Given the description of an element on the screen output the (x, y) to click on. 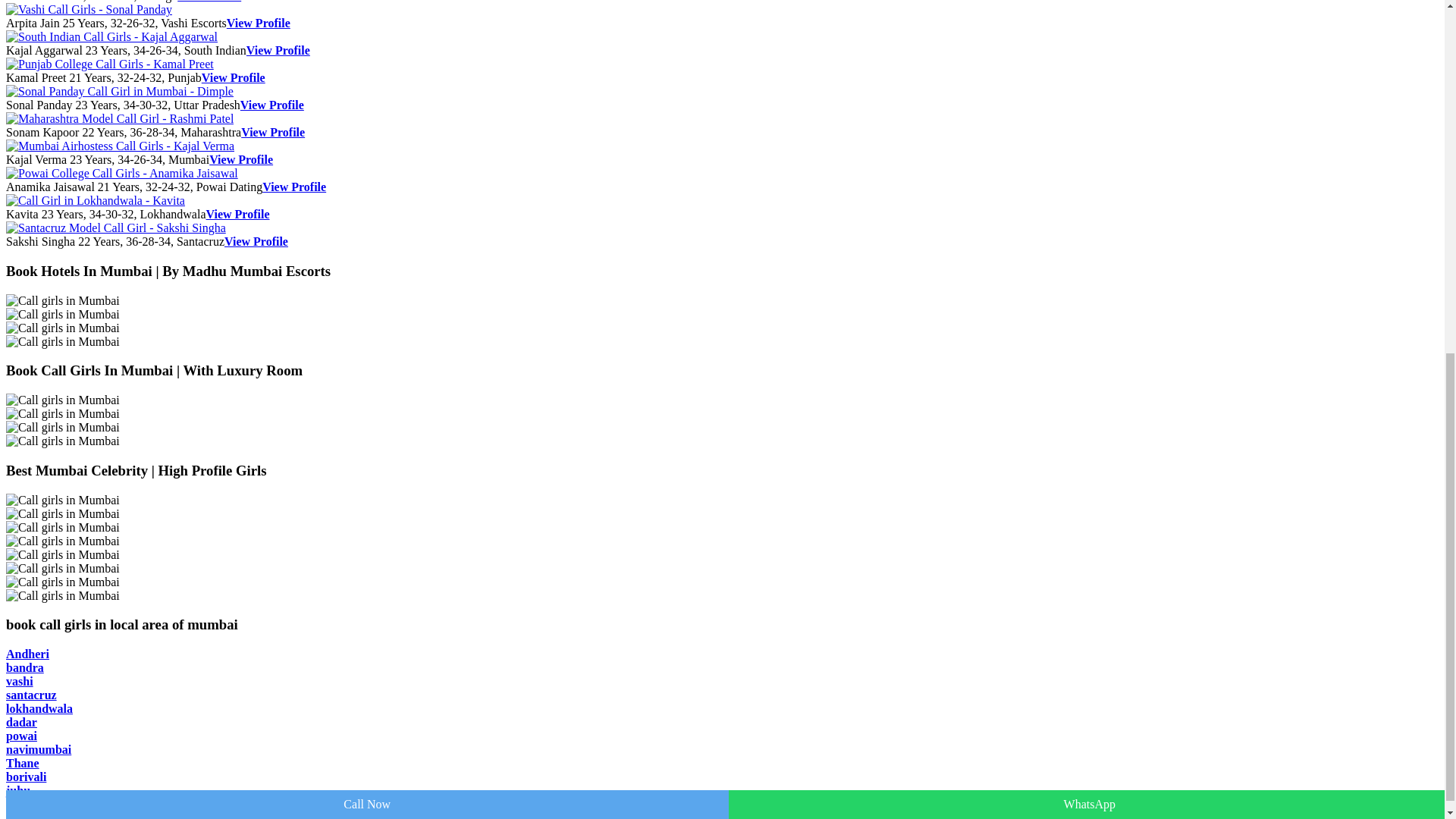
View Profile (294, 186)
South Indian Call Girls - Kajal Aggarwal (110, 36)
Mumbai Call Girls - Maria (209, 1)
Sonal Panday Call Girl in Mumbai - Uttar Pradesh (272, 104)
Punjab College Call Girls - Kamal Preet (233, 77)
Andheri (27, 653)
View Profile (278, 50)
View Profile (241, 159)
View Profile (258, 22)
Punjab College Call Girls - Kamal Preet (109, 63)
View Profile (272, 104)
Sonal Panday Call Girl in Virar - Sonal Panday (118, 91)
View Profile (209, 1)
Vashi Call Girls - Sonal Panday (88, 9)
Vashi Call Girls - Arpita Jain (258, 22)
